Given the description of an element on the screen output the (x, y) to click on. 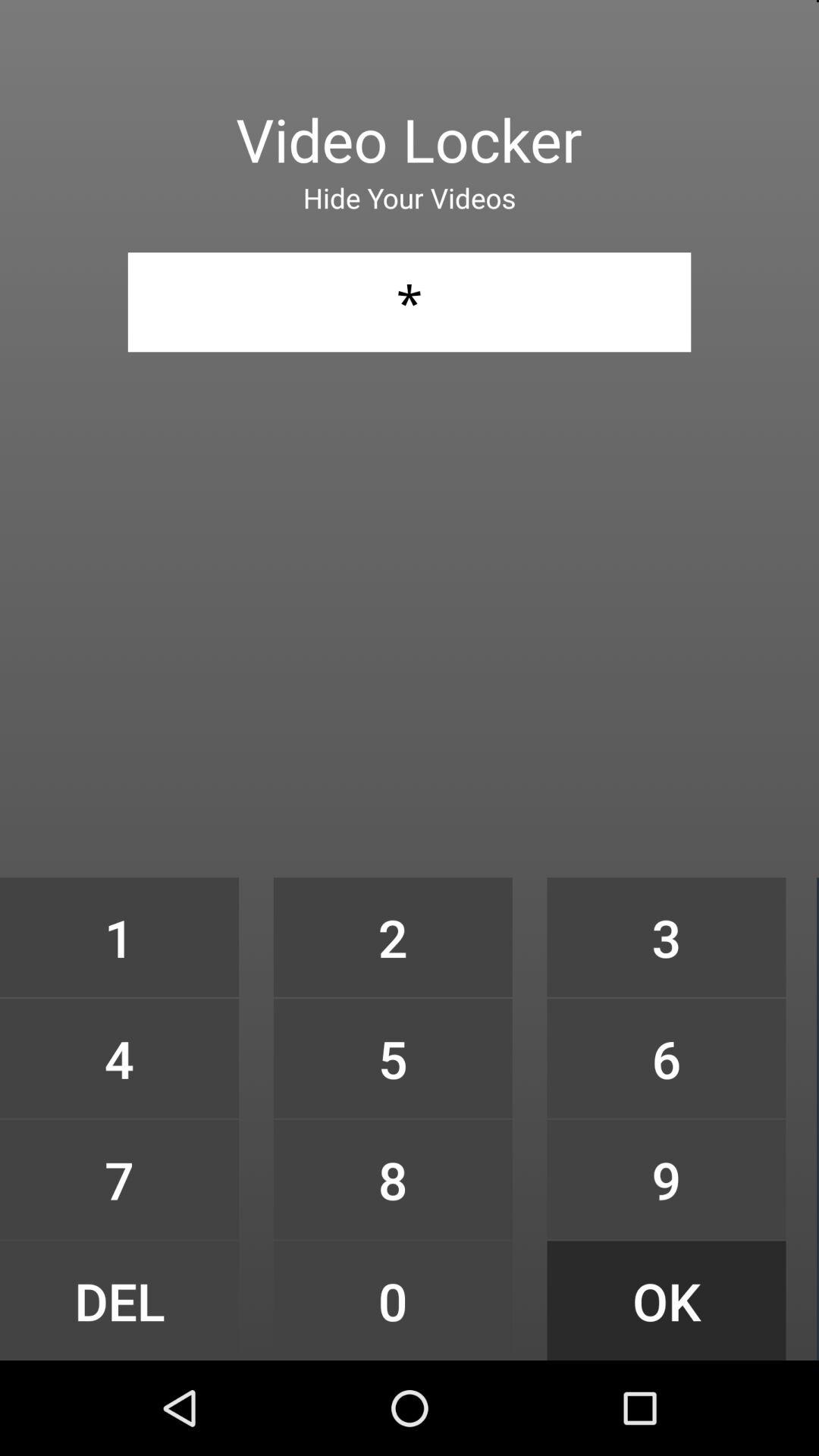
choose the item at the center (392, 937)
